Given the description of an element on the screen output the (x, y) to click on. 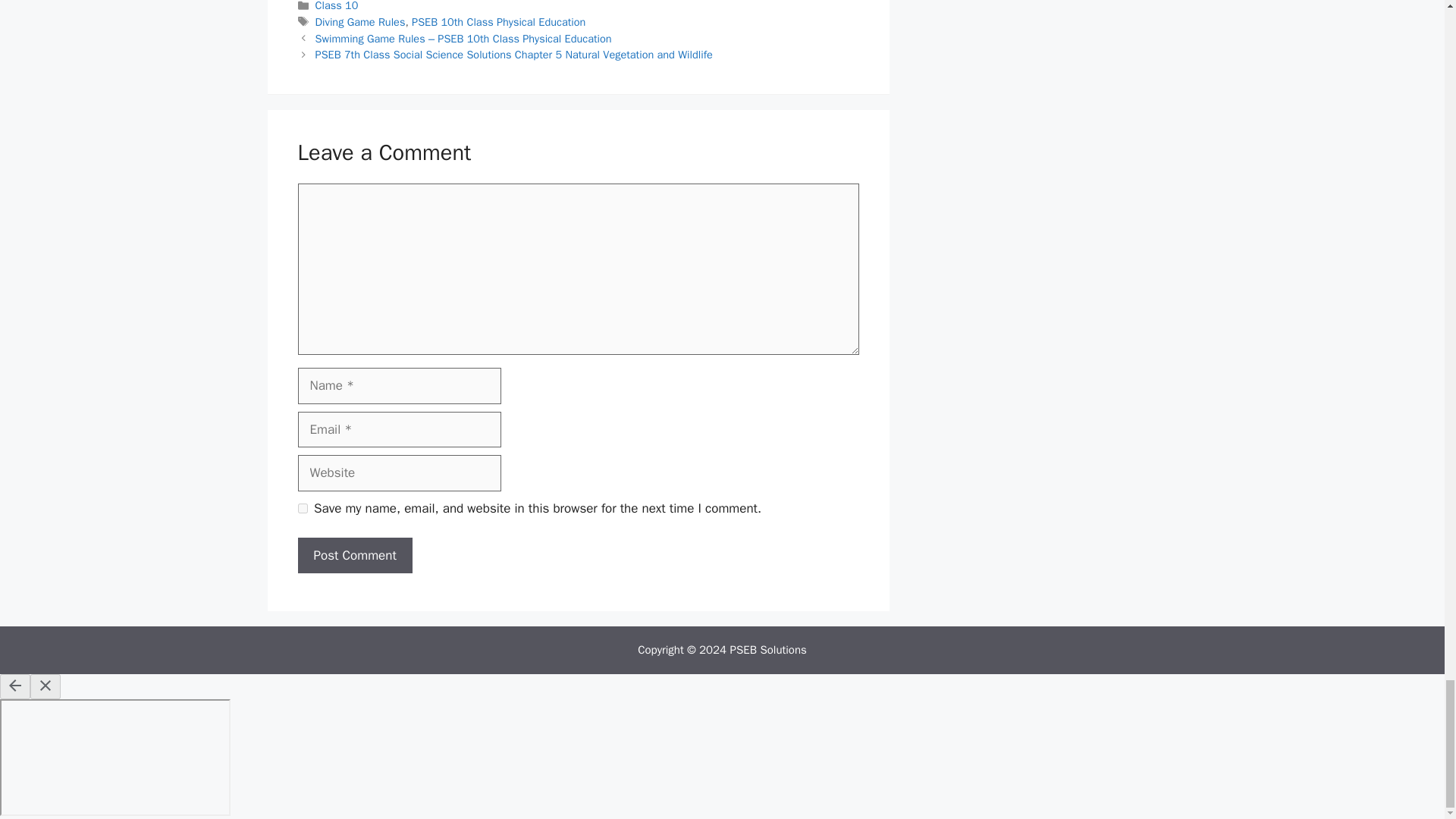
Previous (463, 38)
Post Comment (354, 555)
PSEB 10th Class Physical Education (498, 21)
PSEB Solutions (768, 649)
Diving Game Rules (360, 21)
Post Comment (354, 555)
yes (302, 508)
Class 10 (336, 6)
